Given the description of an element on the screen output the (x, y) to click on. 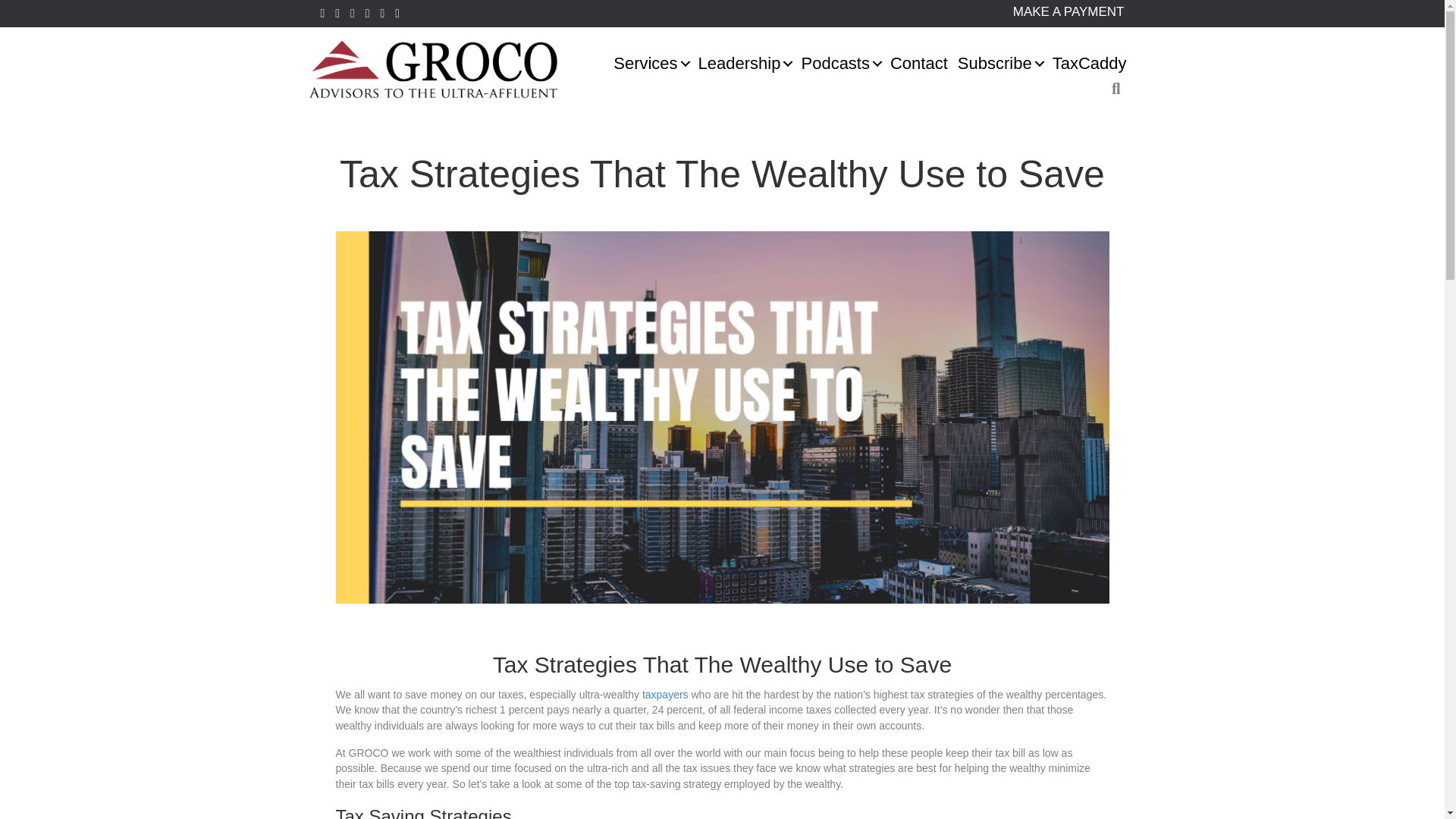
TaxCaddy (1089, 63)
Leadership (745, 63)
Services (650, 63)
taxpayers (665, 694)
MAKE A PAYMENT (1068, 11)
Contact (918, 63)
Search (1118, 88)
Podcasts (840, 63)
Subscribe (999, 63)
